Given the description of an element on the screen output the (x, y) to click on. 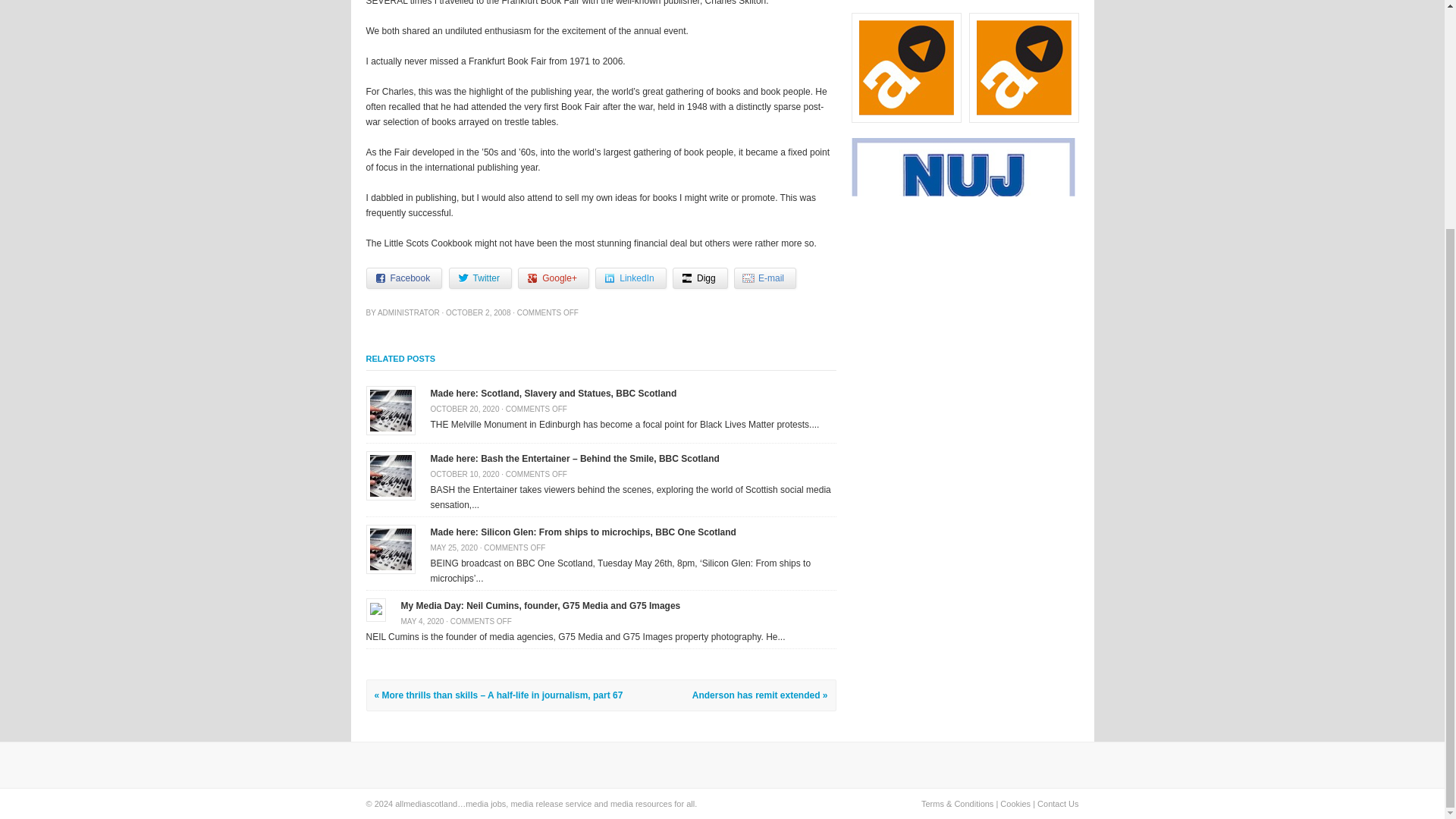
Share this article on LinkedIn (630, 278)
Share this article on Twitter (480, 278)
Share this article on Facebook (403, 278)
Share this article on Digg (700, 278)
